Given the description of an element on the screen output the (x, y) to click on. 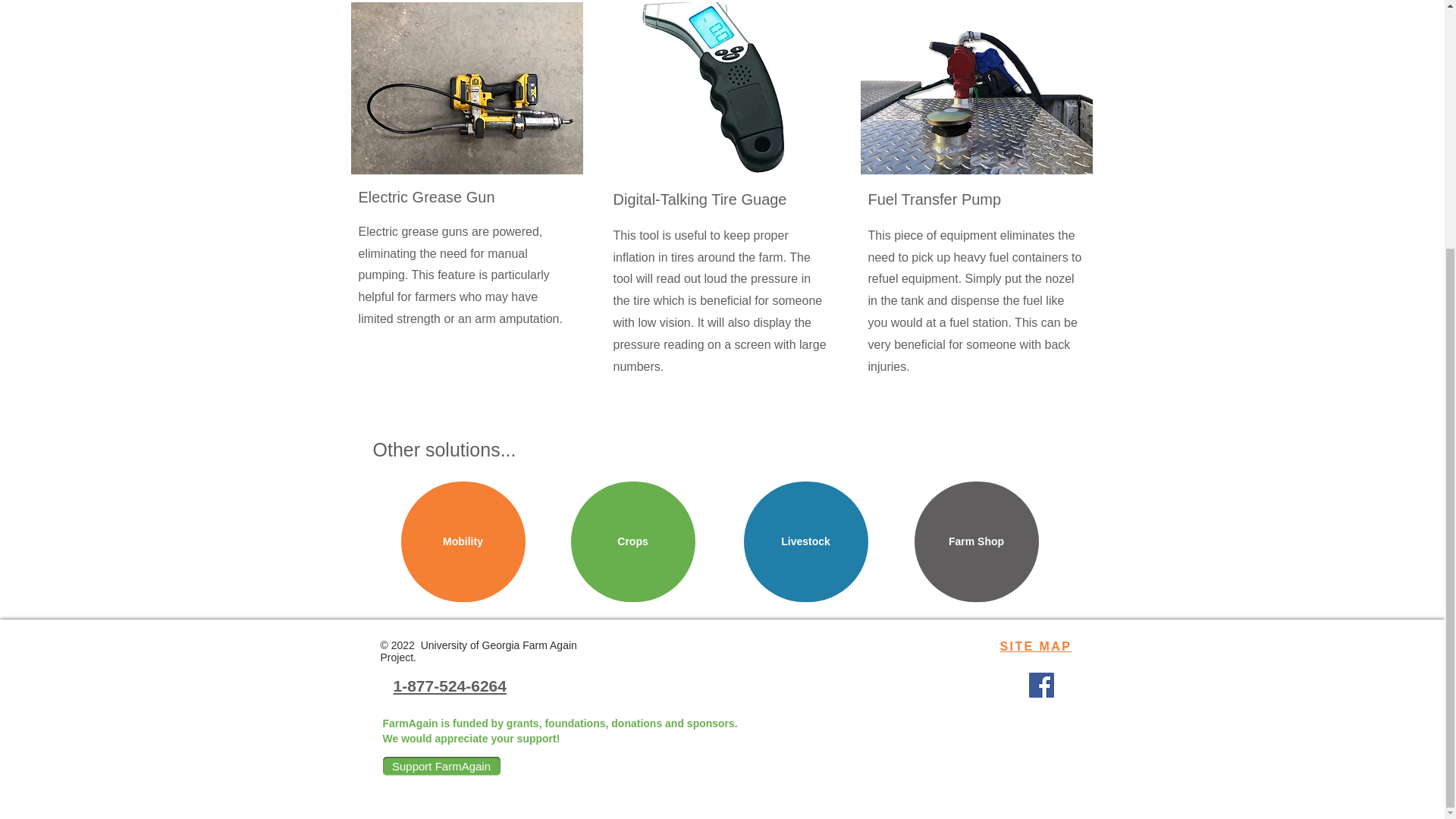
SITE MAP (1034, 645)
Livestock (804, 541)
Crops (632, 541)
Support FarmAgain (440, 765)
Farm Shop (976, 541)
1-877-524-6264 (449, 685)
Mobility (462, 541)
